Given the description of an element on the screen output the (x, y) to click on. 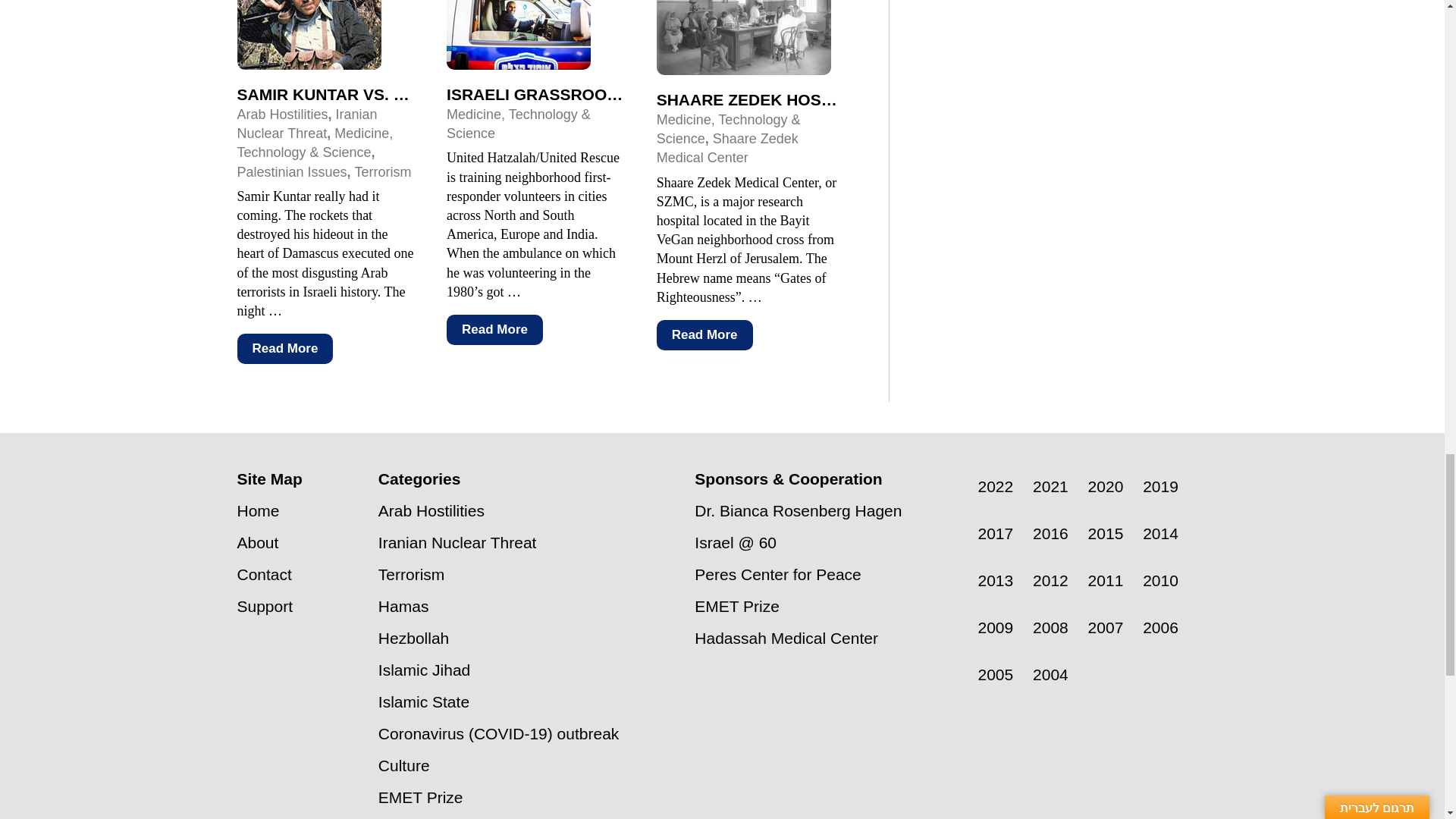
Samir Kuntar vs. the Secret of Israeli Hi-Tech (445, 94)
Israeli grassroots lifesaving model goes international (708, 94)
